Given the description of an element on the screen output the (x, y) to click on. 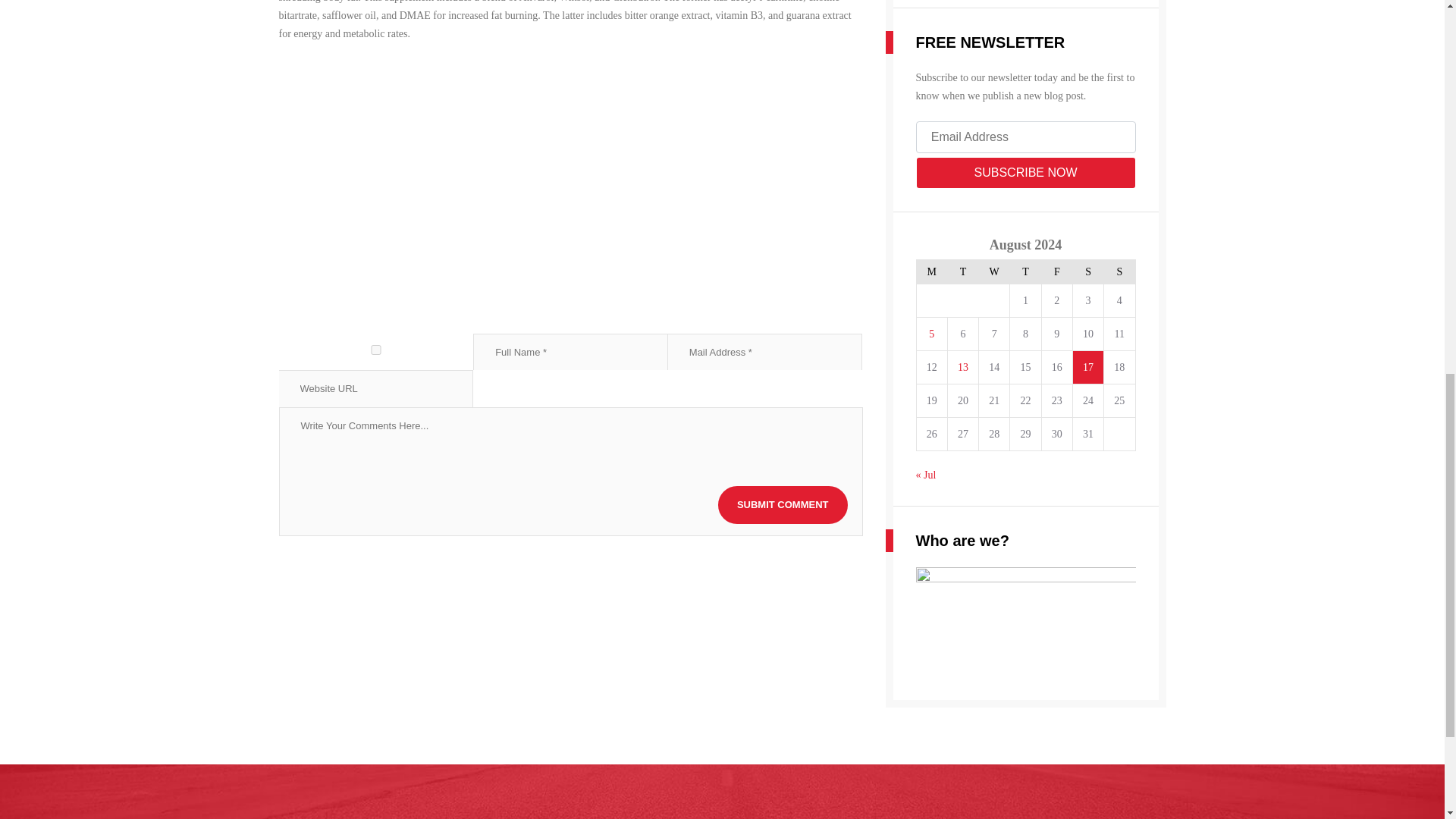
yes (376, 349)
Wednesday (994, 271)
Tuesday (962, 271)
Friday (1056, 271)
SUBSCRIBE NOW (1025, 173)
SUBSCRIBE NOW (1025, 173)
13 (963, 367)
Monday (931, 271)
Sunday (1119, 271)
Thursday (1025, 271)
